Given the description of an element on the screen output the (x, y) to click on. 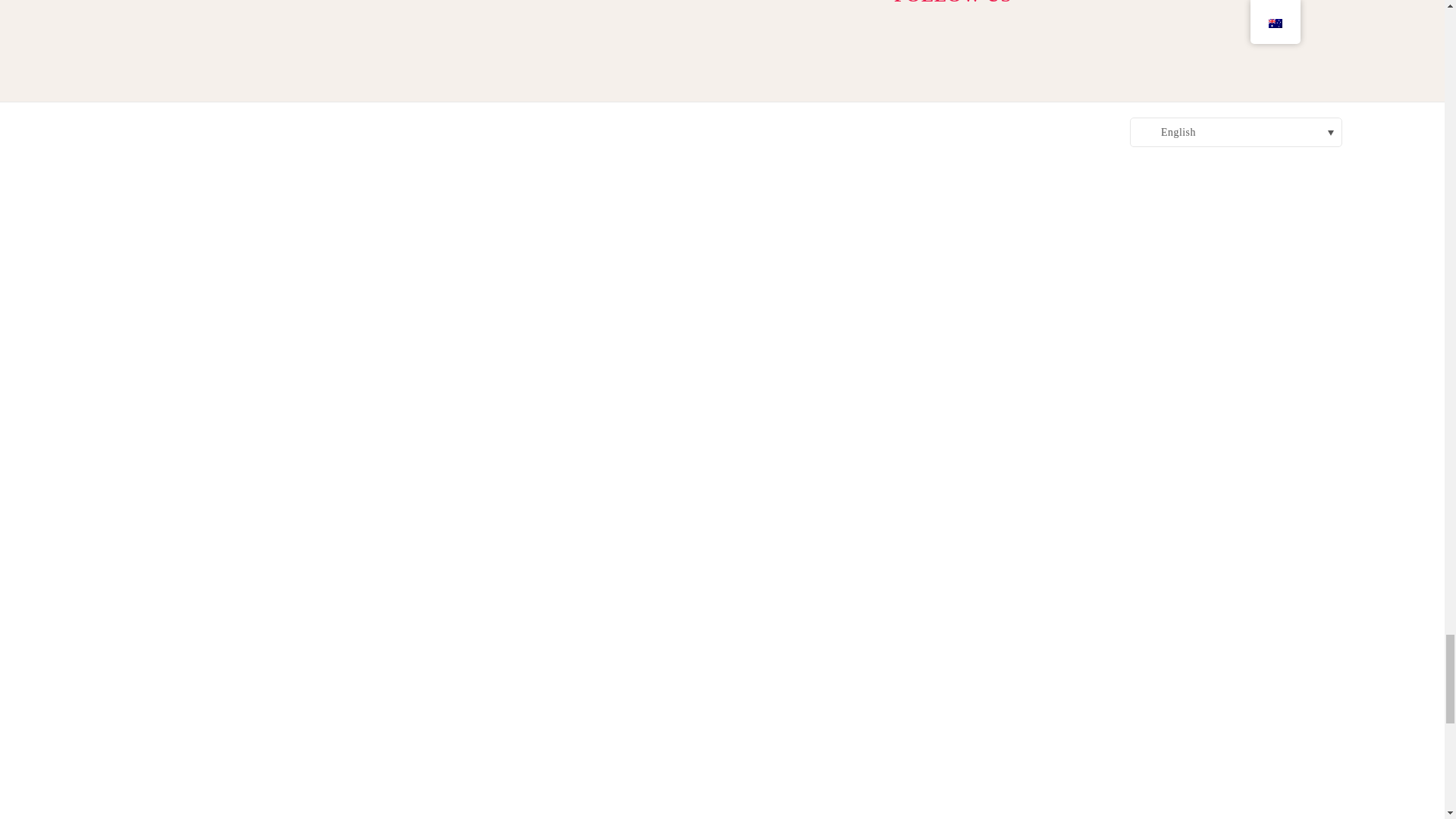
English (1144, 132)
